Given the description of an element on the screen output the (x, y) to click on. 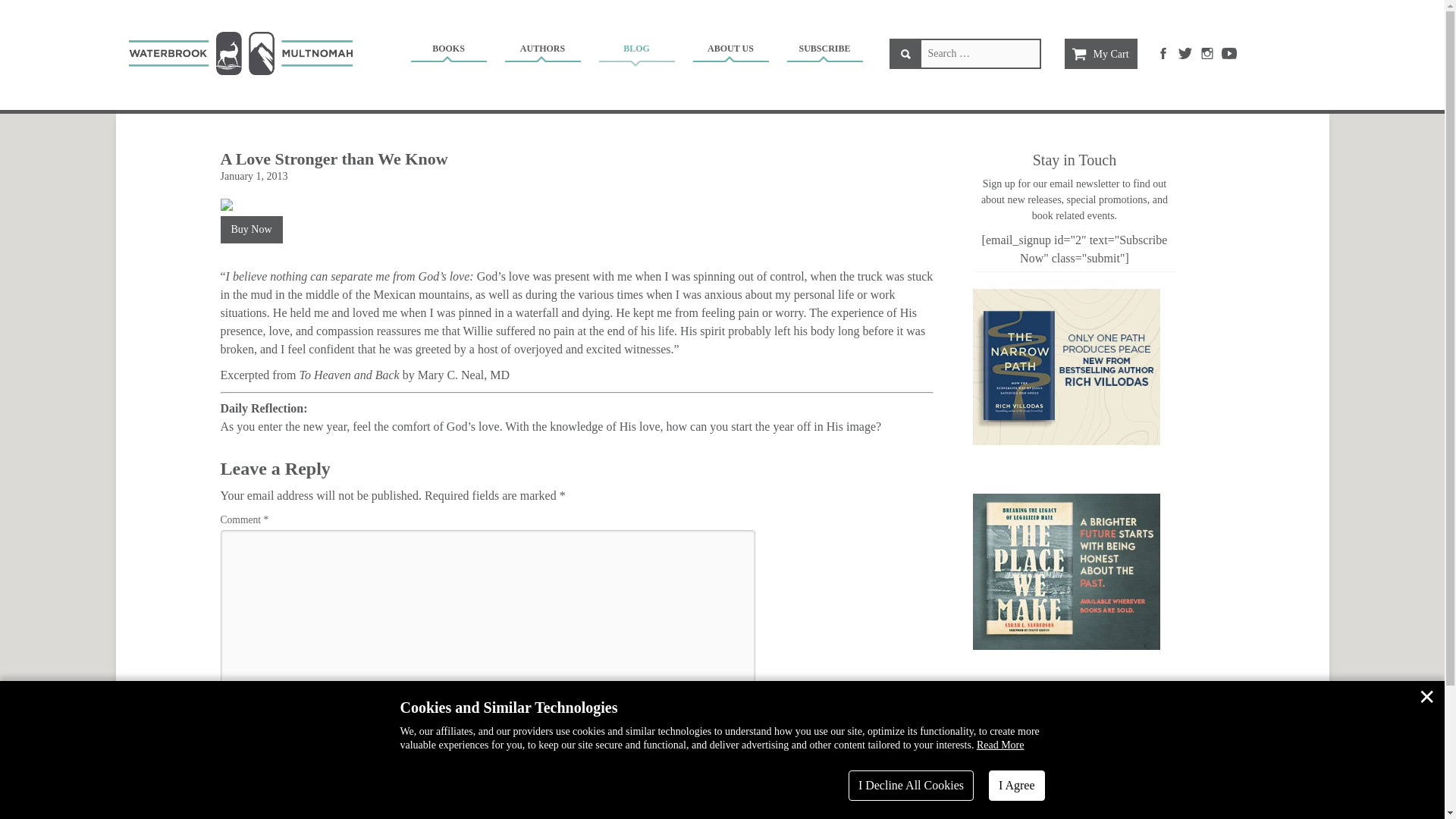
ABOUT US (730, 50)
Search (904, 53)
SUBSCRIBE (824, 50)
Search (904, 53)
AUTHORS (542, 50)
Buy Now (250, 229)
Search (904, 53)
My Cart (1100, 53)
A Love Stronger than We Know (332, 158)
BOOKS (448, 50)
BLOG (636, 50)
